Given the description of an element on the screen output the (x, y) to click on. 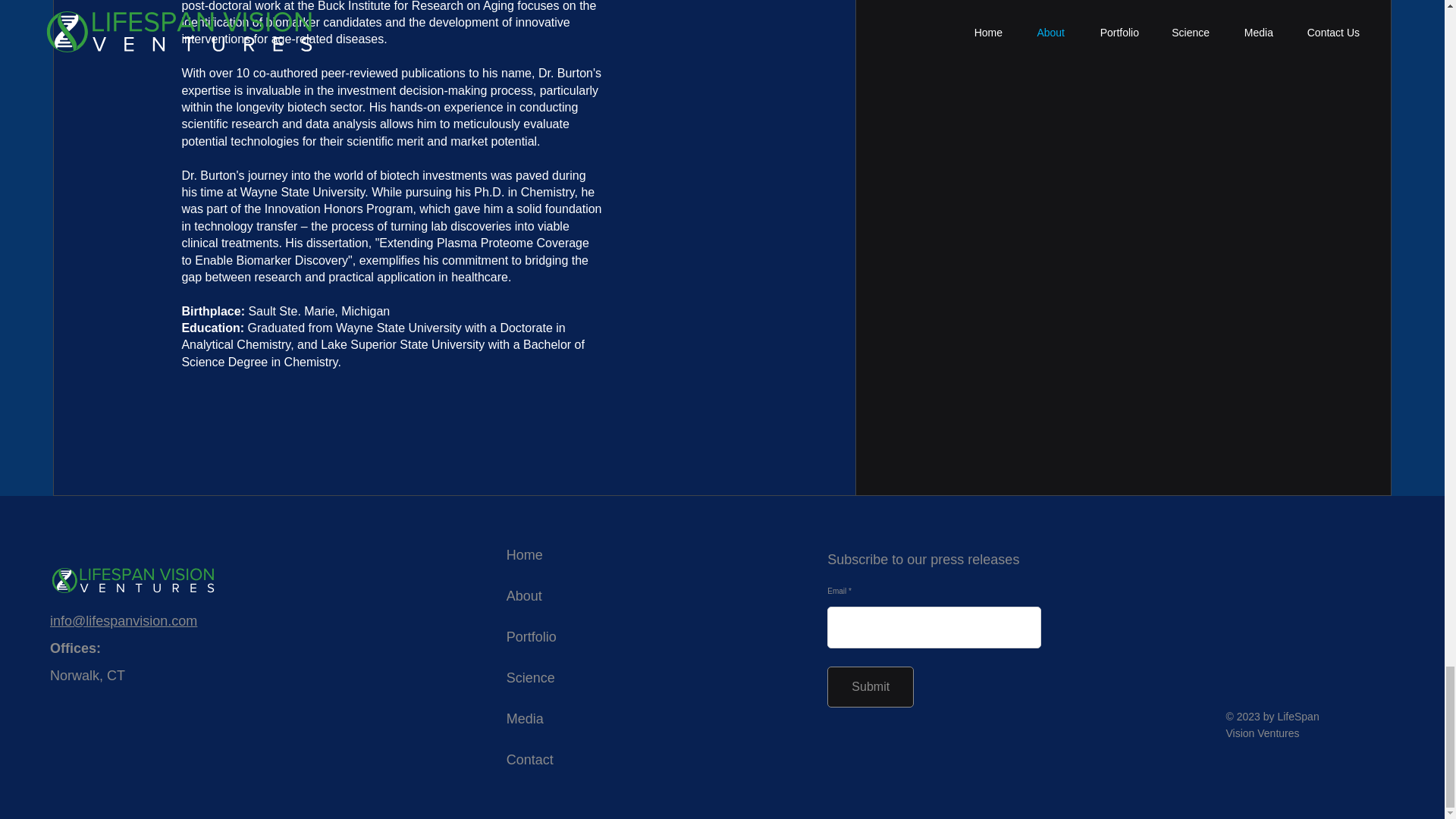
Harry Robb.jpg (1122, 135)
Science (530, 677)
About (523, 595)
Home (524, 554)
Submit (870, 686)
Media (524, 718)
Contact (529, 759)
Portfolio (531, 636)
